Given the description of an element on the screen output the (x, y) to click on. 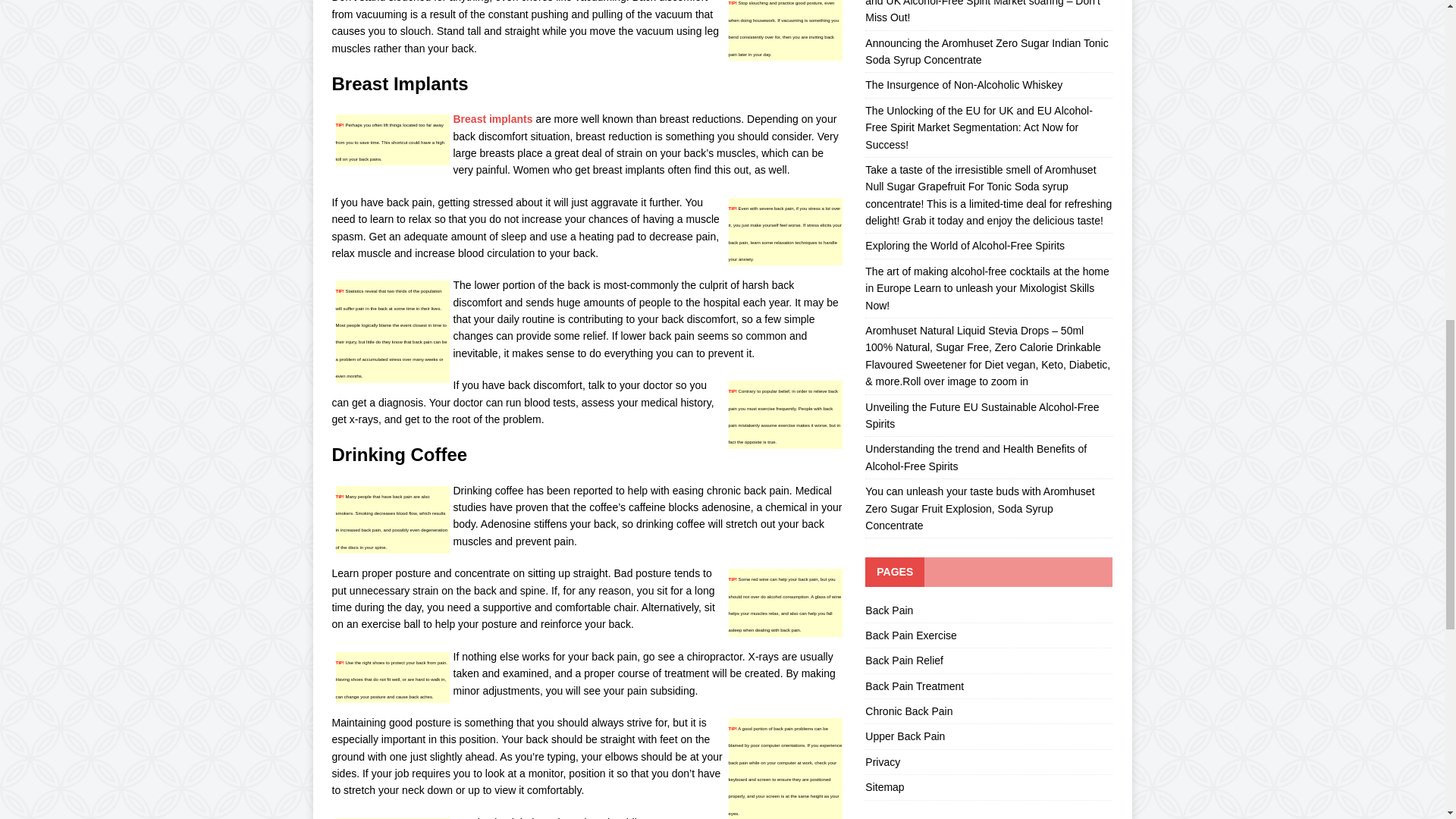
Breast implants (492, 119)
